Given the description of an element on the screen output the (x, y) to click on. 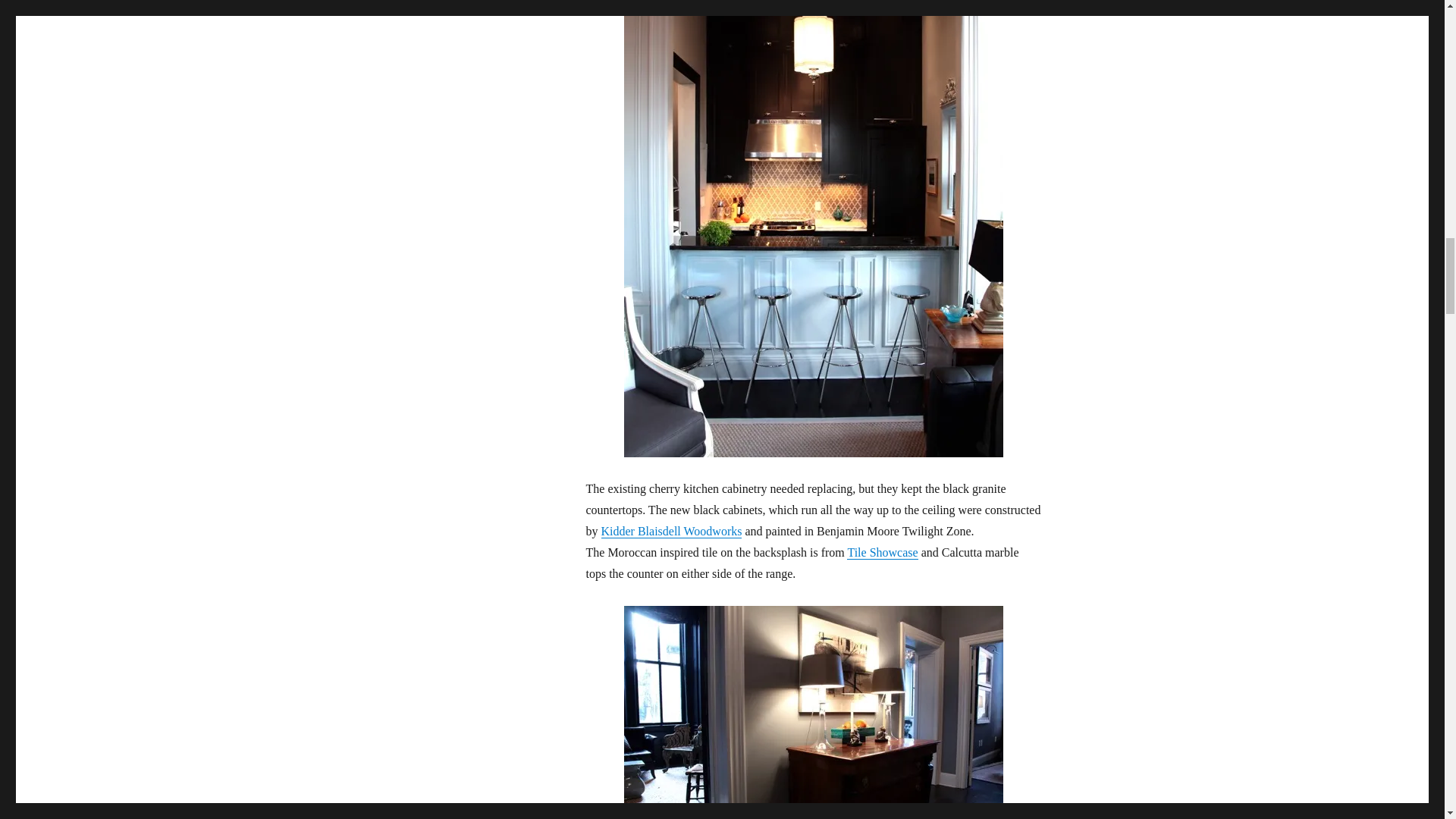
Kidder Blaisdell Woodworks (670, 530)
Tile Showcase (882, 552)
